Given the description of an element on the screen output the (x, y) to click on. 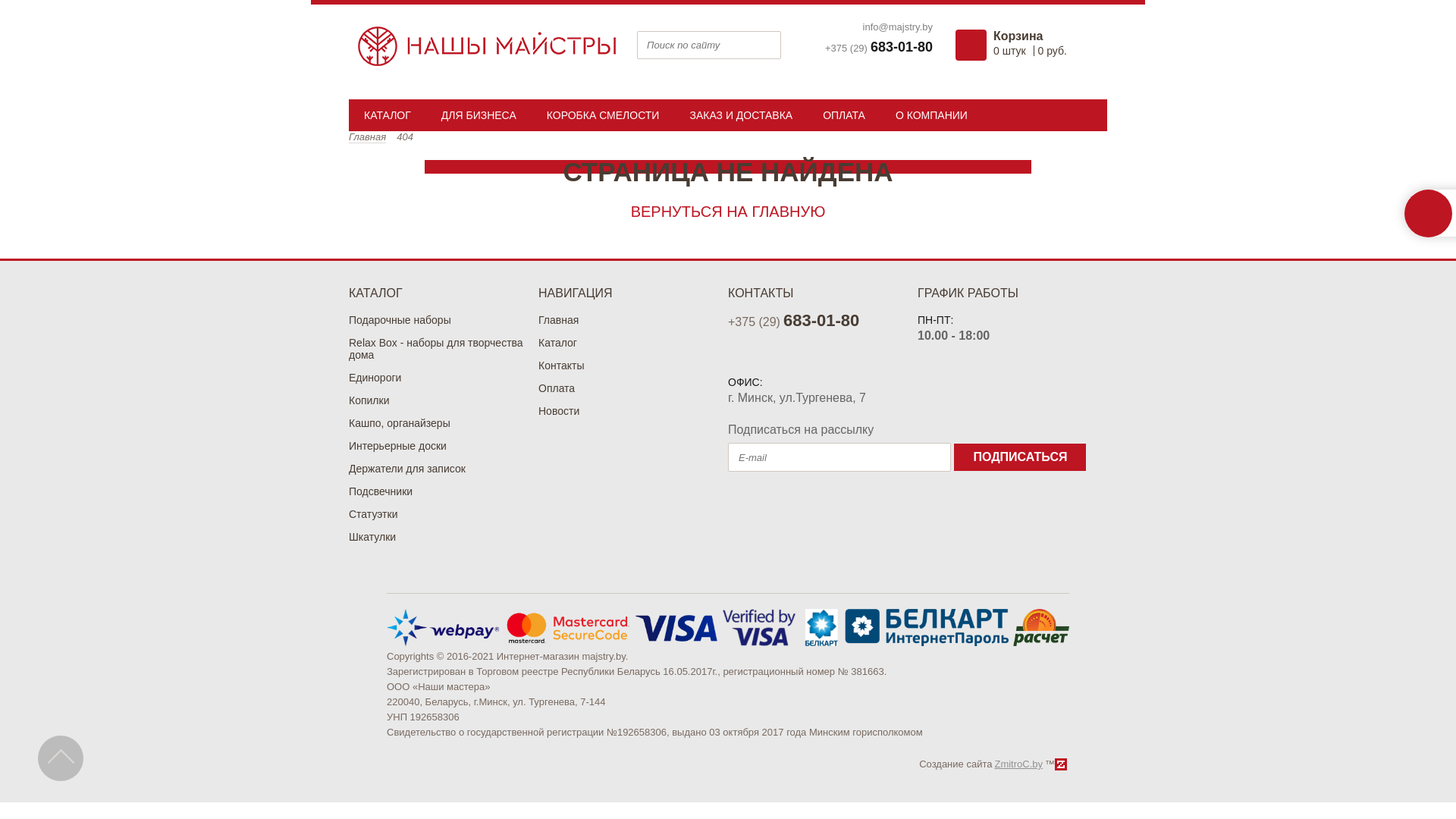
ZmitroC.by Element type: text (1018, 763)
+375 (29)683-01-80 Element type: text (793, 320)
info@majstry.by Element type: text (897, 26)
+375 (29)683-01-80 Element type: text (878, 47)
